Given the description of an element on the screen output the (x, y) to click on. 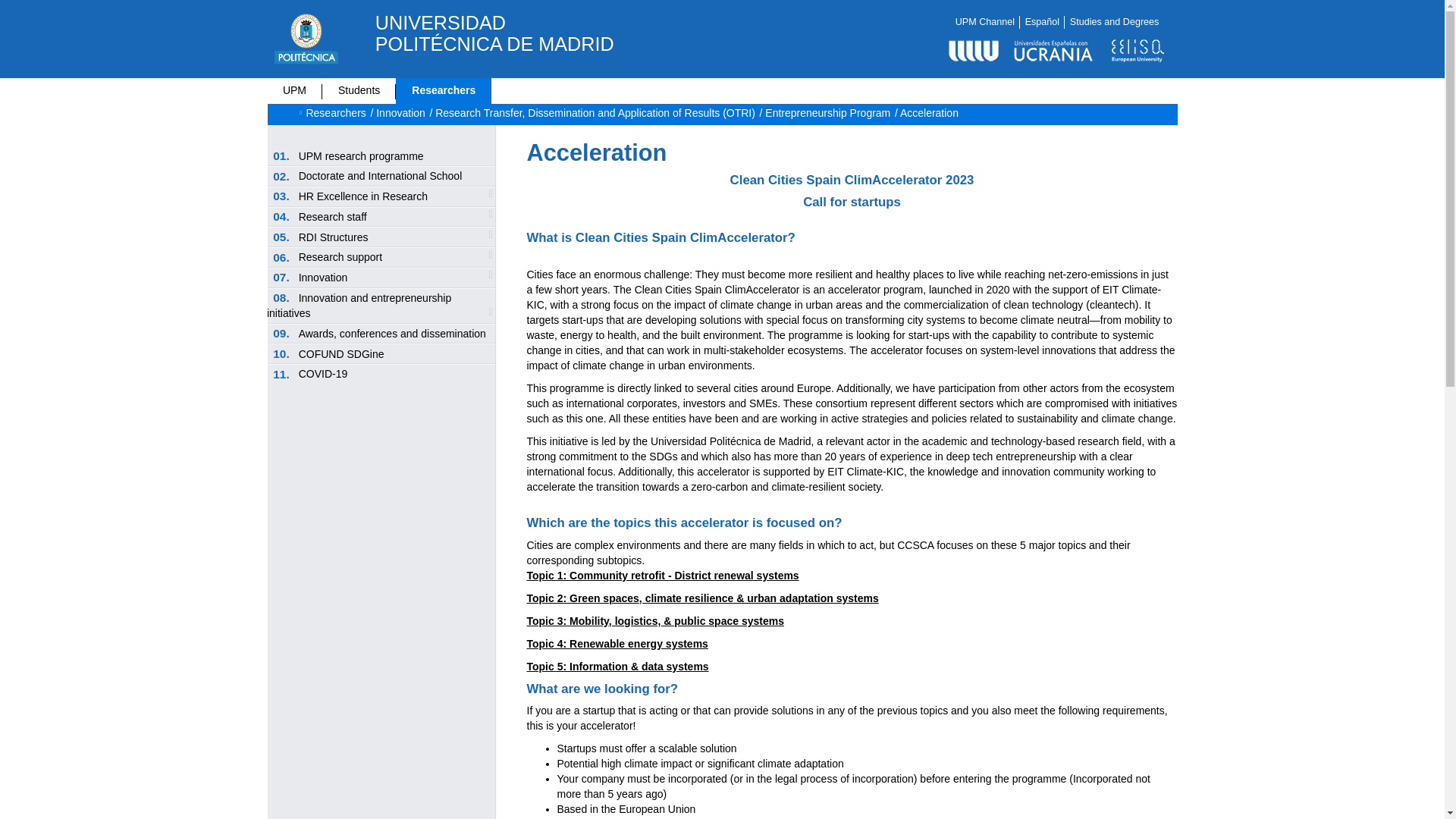
Studies and Degrees (1114, 21)
UPM Channel (984, 21)
UPM (293, 90)
Researchers (444, 90)
Students (358, 90)
